Given the description of an element on the screen output the (x, y) to click on. 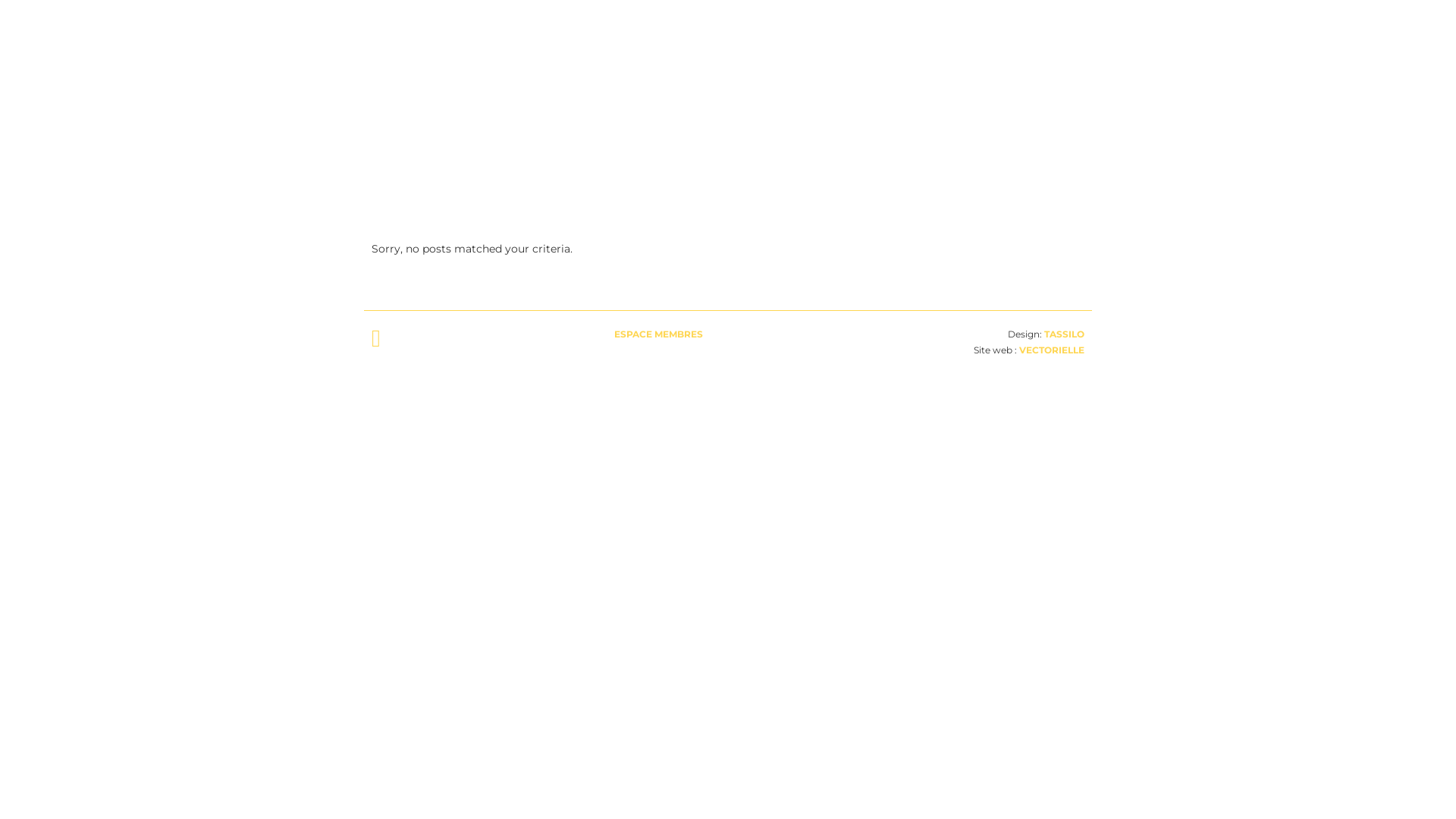
DIRECTEUR Element type: text (985, 52)
TASSILO Element type: text (1064, 333)
CONTACT Element type: text (1053, 52)
CONCERTS Element type: text (852, 52)
VECTORIELLE Element type: text (1051, 349)
ESPACE MEMBRES Element type: text (658, 333)
HISTOIRE Element type: text (917, 52)
